Given the description of an element on the screen output the (x, y) to click on. 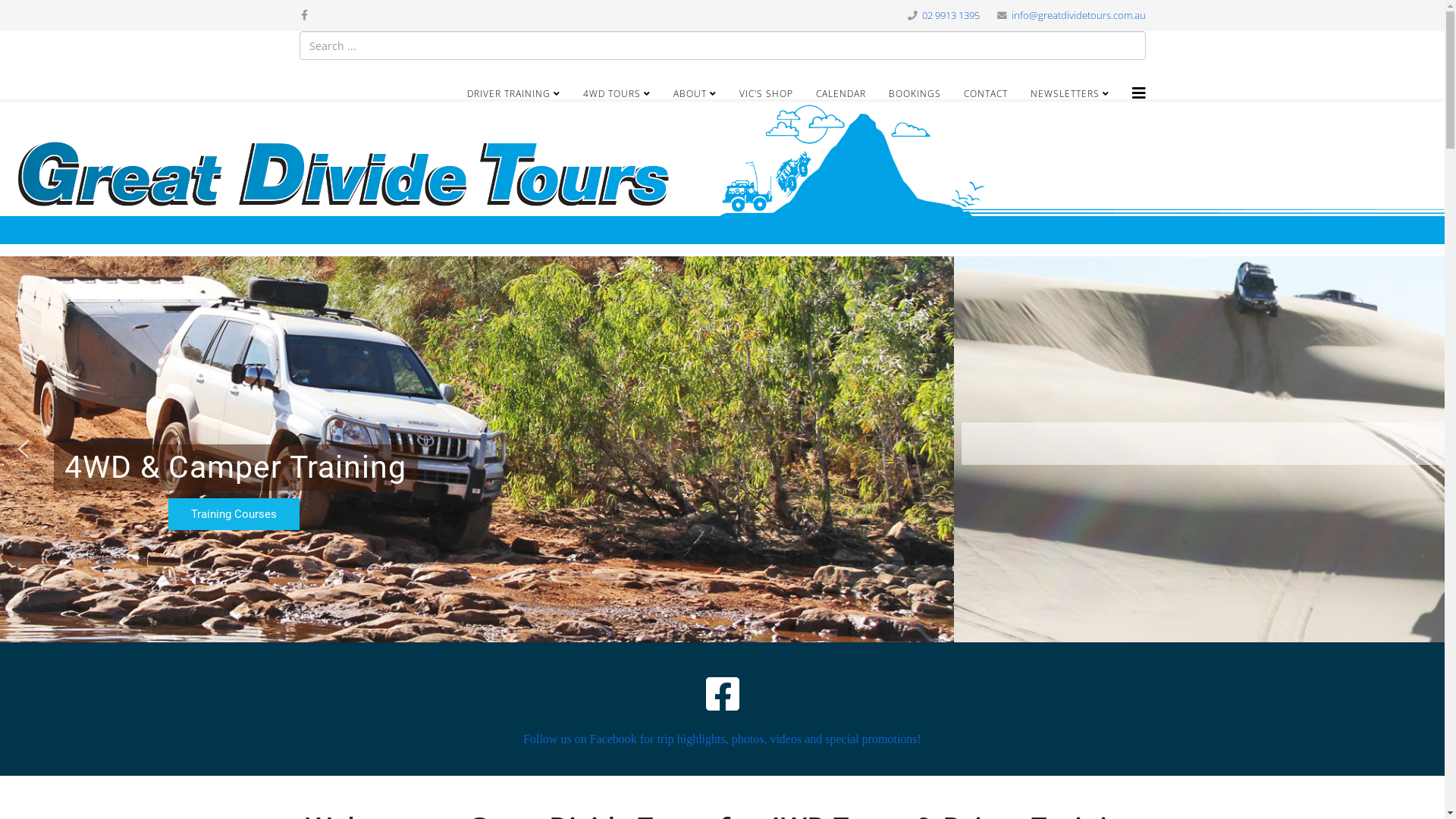
ABOUT Element type: text (694, 93)
BOOKINGS Element type: text (913, 93)
02 9913 1395 Element type: text (950, 15)
4WD TOURS Element type: text (616, 93)
info@greatdividetours.com.au Element type: text (1078, 15)
Training Courses Element type: text (723, 514)
DRIVER TRAINING Element type: text (513, 93)
CALENDAR Element type: text (839, 93)
Helix3 Megamenu Options Element type: hover (1138, 92)
CONTACT Element type: text (985, 93)
VIC'S SHOP Element type: text (766, 93)
NEWSLETTERS Element type: text (1069, 93)
